Given the description of an element on the screen output the (x, y) to click on. 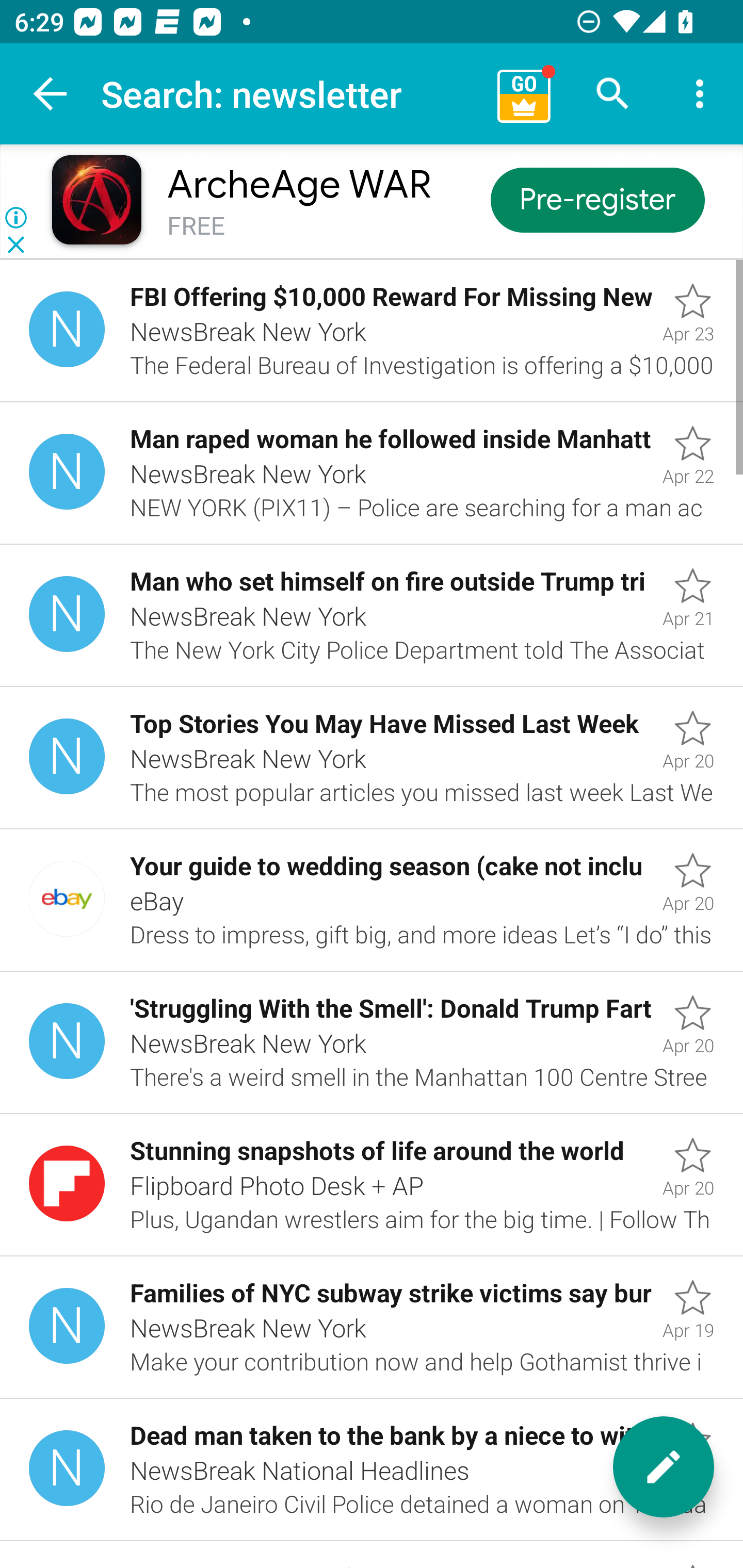
Navigate up (50, 93)
Search (612, 93)
More options (699, 93)
ArcheAge WAR (298, 184)
Pre-register (597, 199)
FREE (195, 225)
New message (663, 1466)
